Given the description of an element on the screen output the (x, y) to click on. 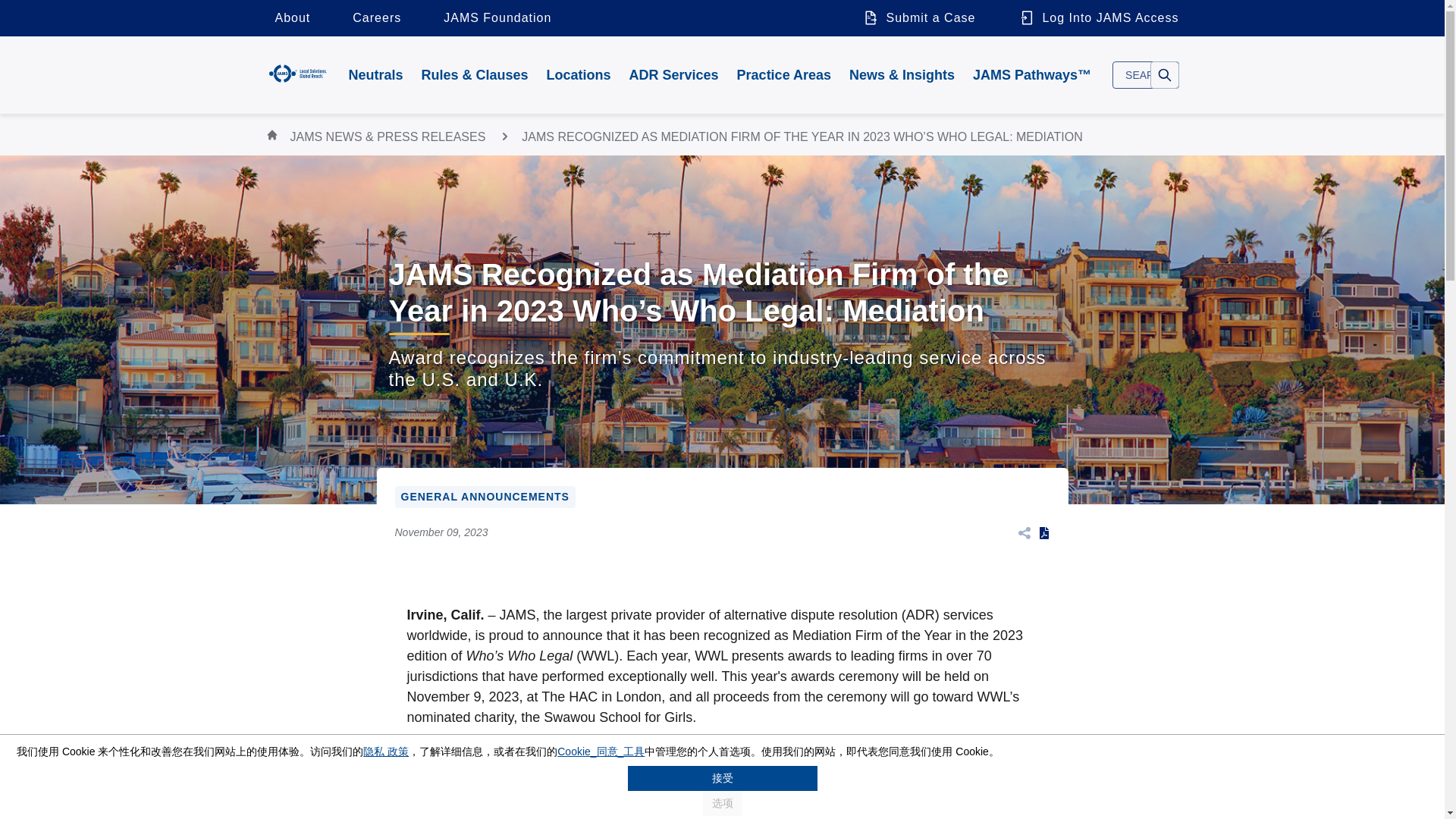
Share on LinkedIn (1017, 532)
Log Into JAMS Access (1093, 18)
Share on Twitter (1016, 532)
Share on Facebook (1016, 532)
Download as PDF (1042, 532)
JAMS Home (296, 73)
About (291, 18)
JAMS Foundation (496, 18)
Submit a Case (917, 18)
Careers (376, 18)
Neutrals (375, 74)
